Given the description of an element on the screen output the (x, y) to click on. 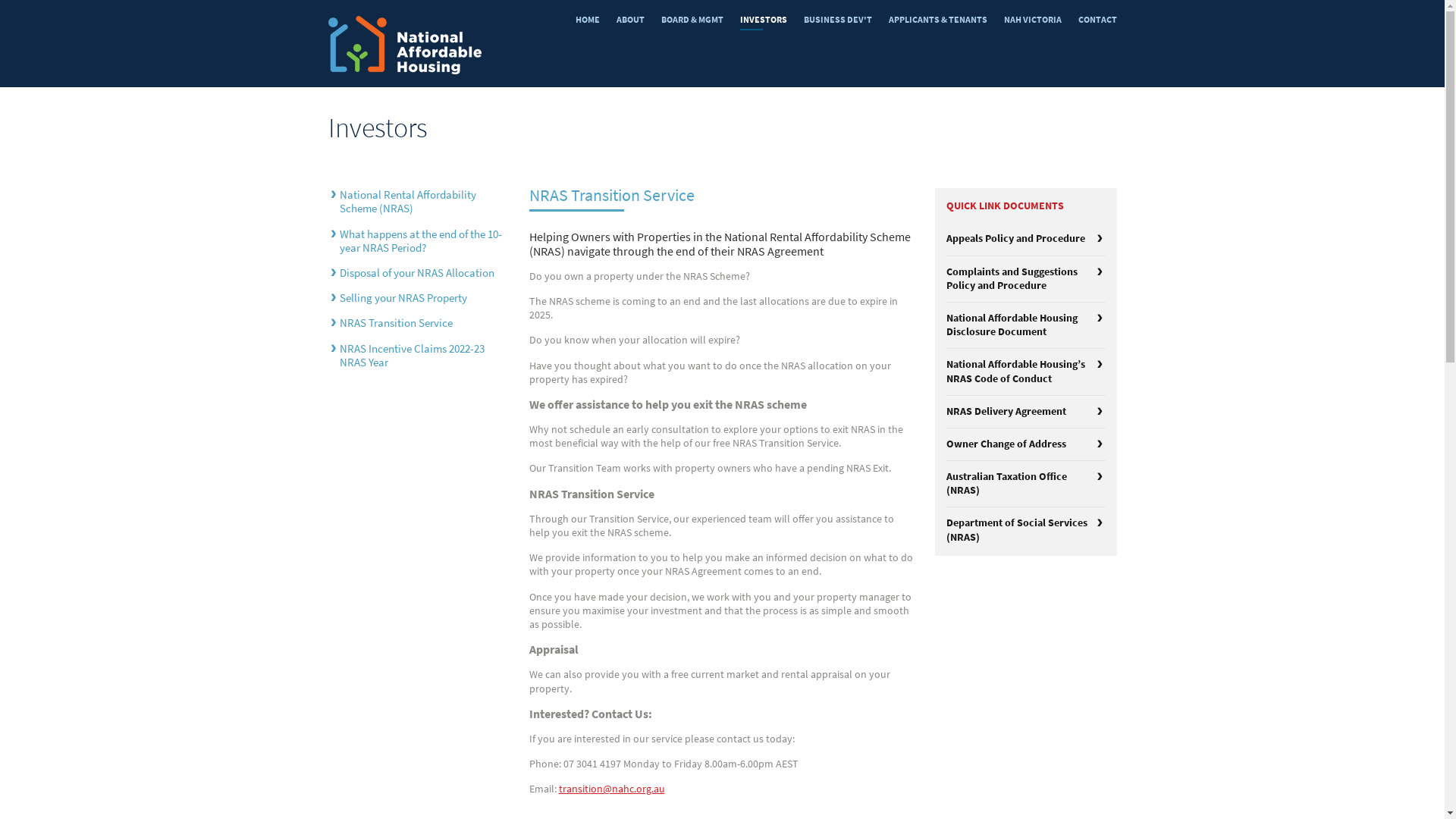
NRAS Transition Service Element type: text (395, 322)
ABOUT Element type: text (629, 19)
BOARD & MGMT Element type: text (692, 19)
Selling your NRAS Property Element type: text (403, 297)
CONTACT Element type: text (1097, 19)
NAH VICTORIA Element type: text (1032, 19)
BUSINESS DEV'T Element type: text (837, 19)
transition@nahc.org.au Element type: text (611, 788)
NRAS Incentive Claims 2022-23 NRAS Year Element type: text (411, 355)
National Rental Affordability Scheme (NRAS) Element type: text (407, 201)
HOME Element type: text (586, 19)
Disposal of your NRAS Allocation Element type: text (416, 272)
What happens at the end of the 10-year NRAS Period? Element type: text (420, 240)
APPLICANTS & TENANTS Element type: text (937, 19)
